Given the description of an element on the screen output the (x, y) to click on. 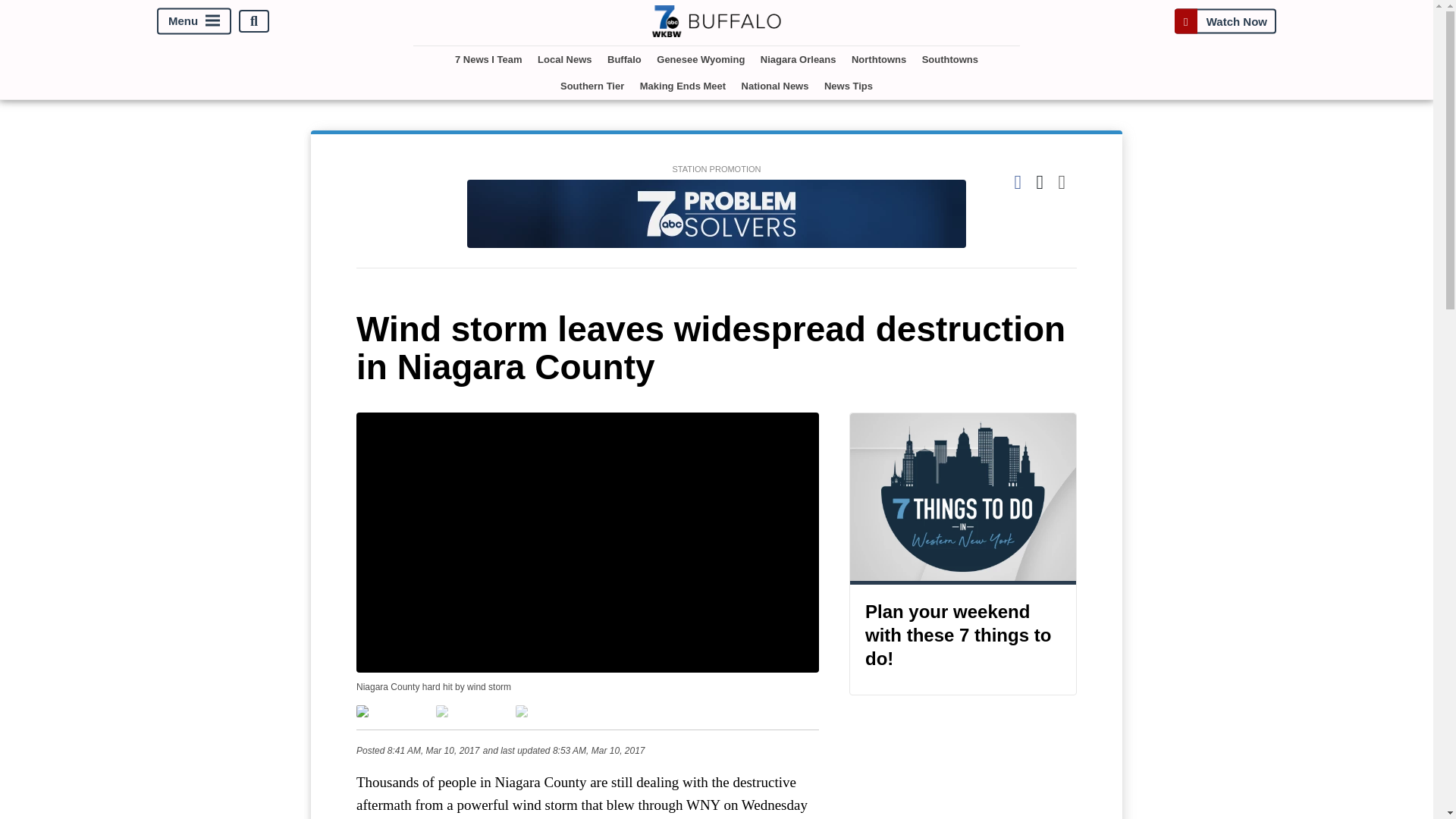
Watch Now (1224, 21)
Menu (194, 21)
